Given the description of an element on the screen output the (x, y) to click on. 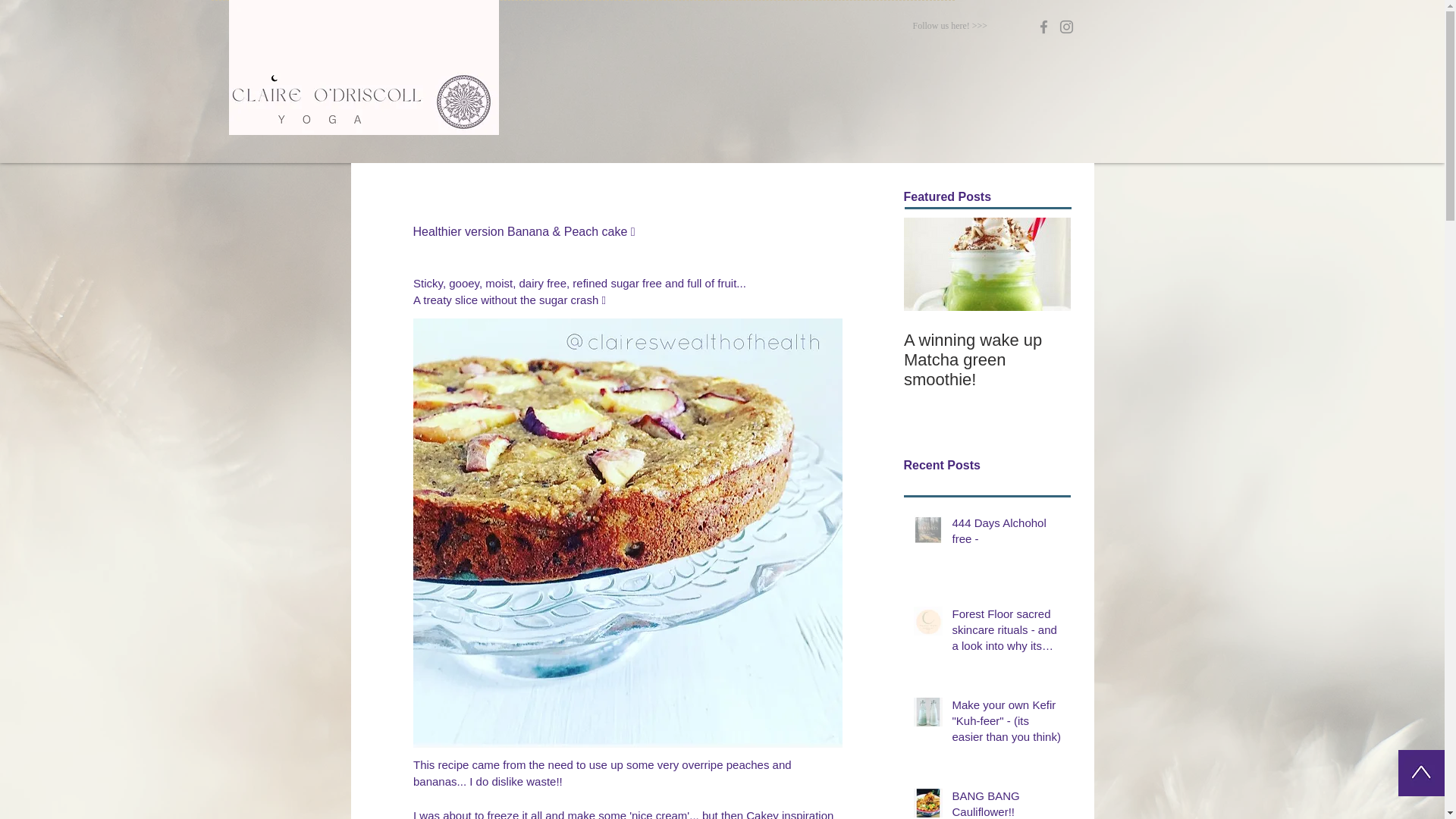
BANG BANG Cauliflower!! (1006, 803)
444 Days Alchohol free - (1006, 533)
A winning wake up Matcha green smoothie! (987, 324)
A winning wake up Matcha green smoothie! (987, 359)
A winning wake up Matcha green smoothie! (987, 324)
